Given the description of an element on the screen output the (x, y) to click on. 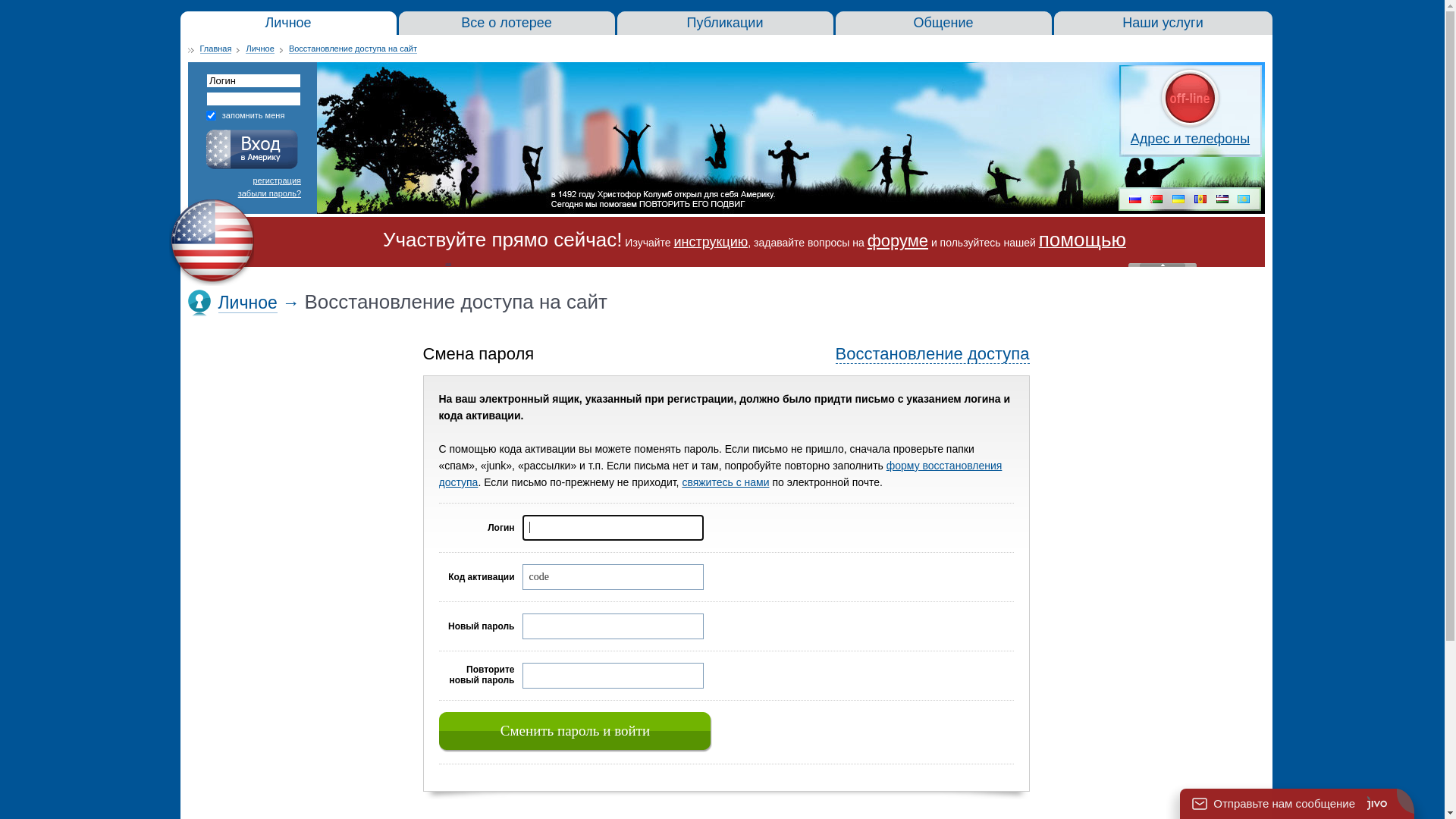
ua Element type: hover (1178, 200)
kz Element type: hover (1243, 200)
by Element type: hover (1156, 200)
ru Element type: hover (1135, 200)
uz Element type: hover (1222, 200)
md Element type: hover (1200, 200)
